Given the description of an element on the screen output the (x, y) to click on. 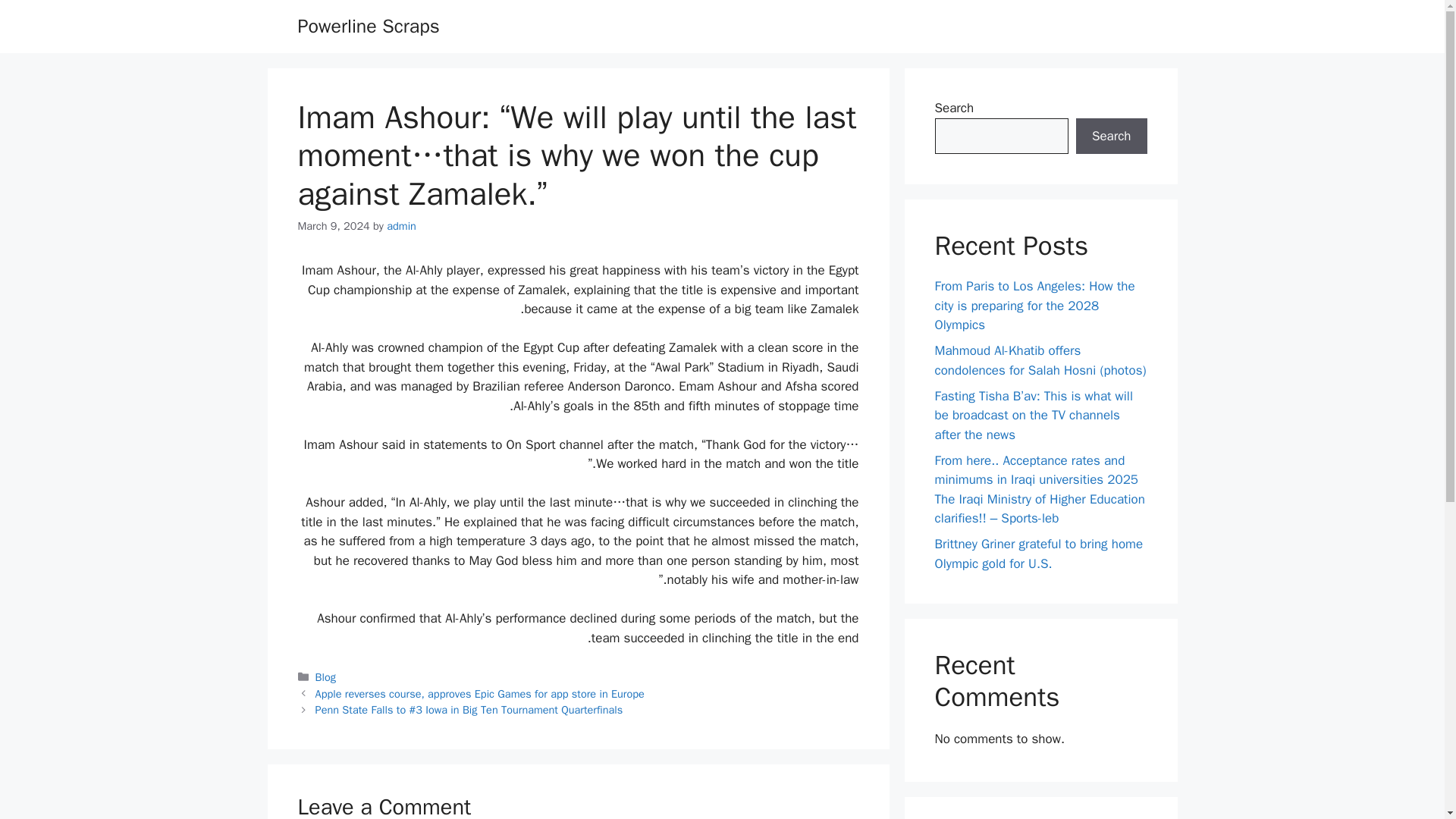
Brittney Griner grateful to bring home Olympic gold for U.S. (1038, 553)
Search (1111, 135)
Blog (325, 676)
admin (401, 225)
View all posts by admin (401, 225)
Powerline Scraps (368, 25)
